Given the description of an element on the screen output the (x, y) to click on. 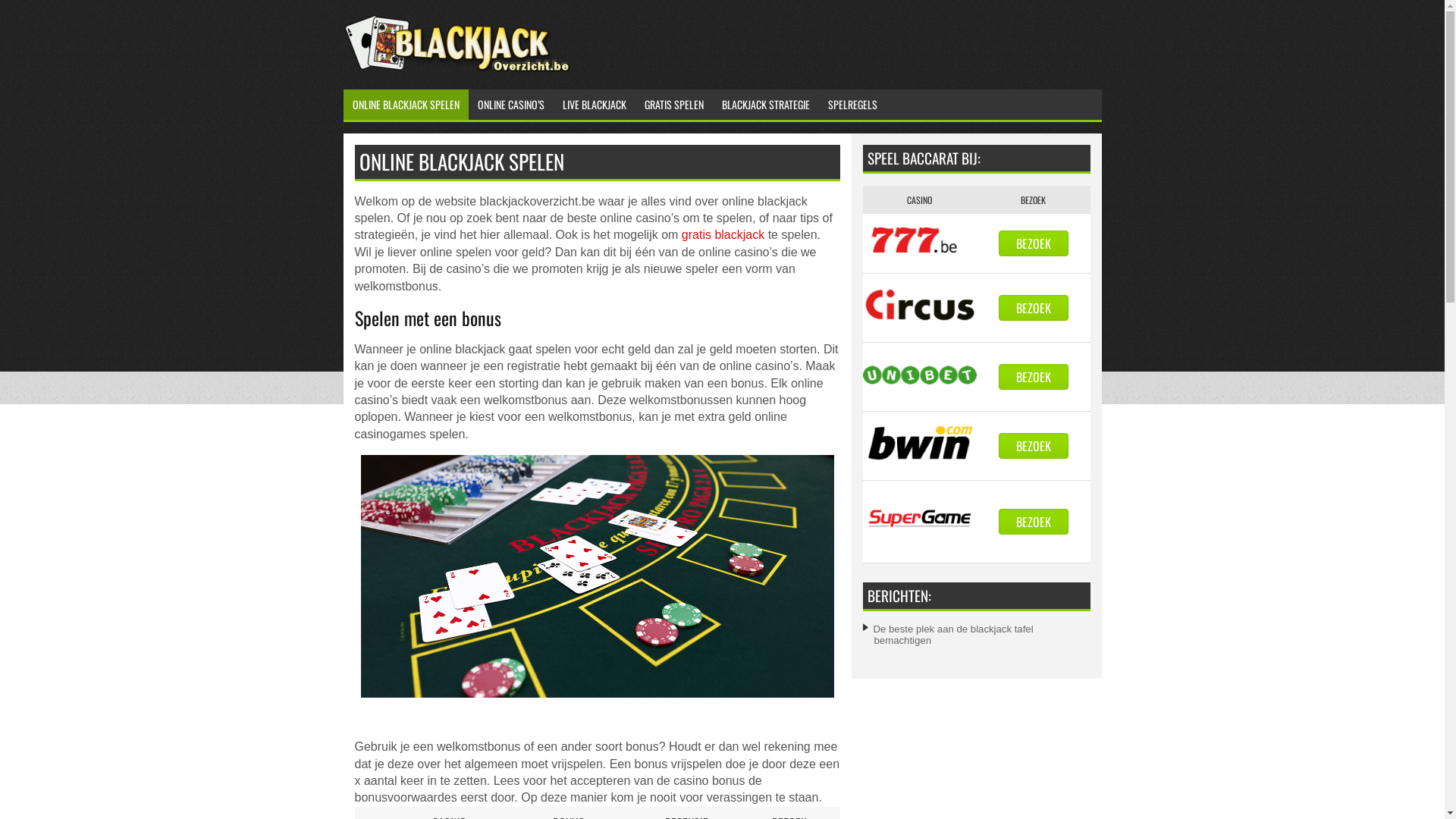
BEZOEK Element type: text (1032, 445)
BEZOEK Element type: text (1032, 307)
BEZOEK Element type: text (1032, 376)
Blackjack overzicht Element type: hover (456, 69)
BLACKJACK STRATEGIE Element type: text (765, 104)
BEZOEK Element type: text (1032, 521)
BEZOEK Element type: text (1032, 243)
gratis blackjack Element type: text (722, 234)
LIVE BLACKJACK Element type: text (594, 104)
SPELREGELS Element type: text (852, 104)
ONLINE BLACKJACK SPELEN Element type: text (404, 104)
GRATIS SPELEN Element type: text (673, 104)
De beste plek aan de blackjack tafel bemachtigen Element type: text (953, 634)
